Given the description of an element on the screen output the (x, y) to click on. 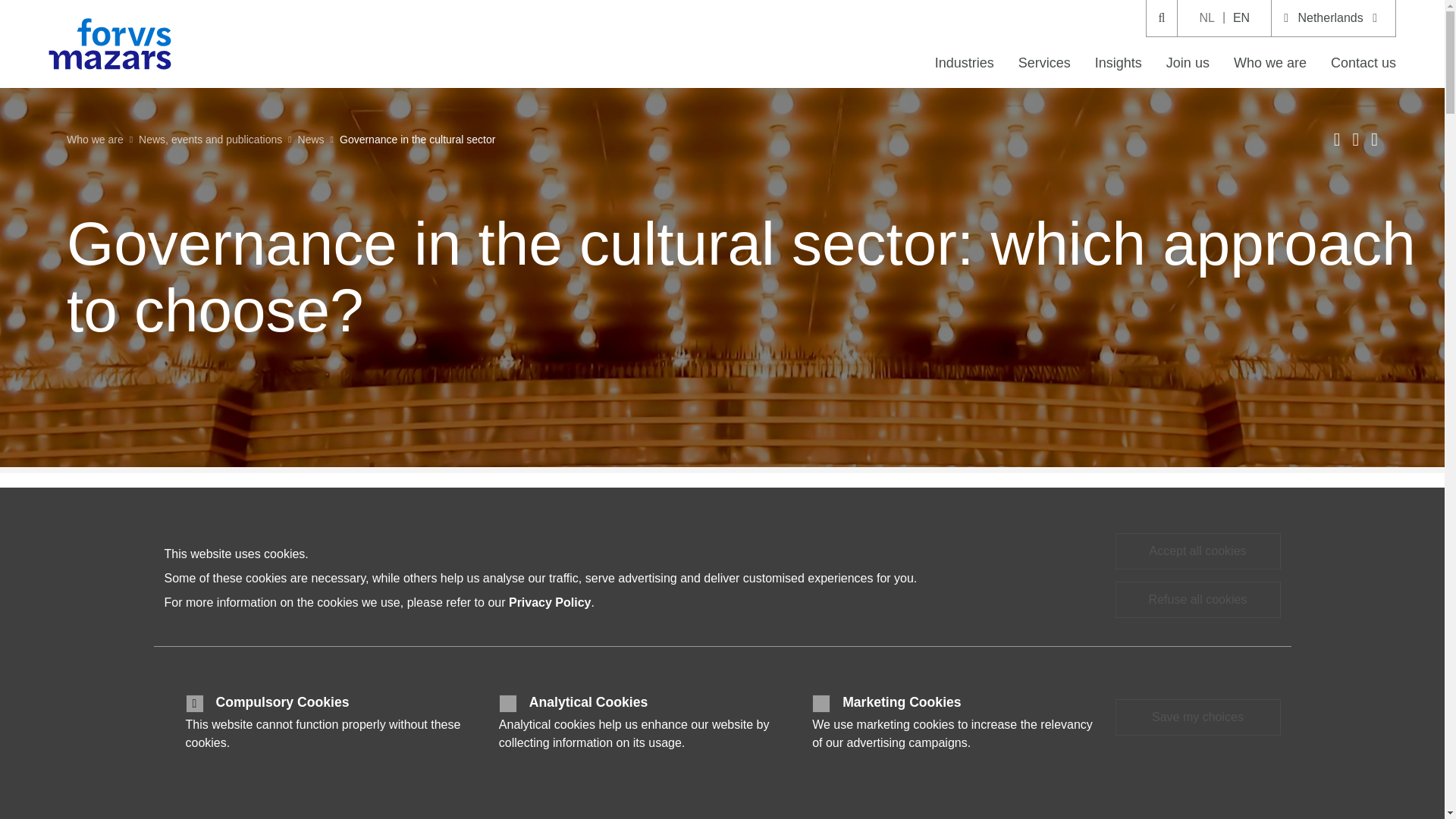
Netherlands (1332, 18)
NL (1206, 17)
